Given the description of an element on the screen output the (x, y) to click on. 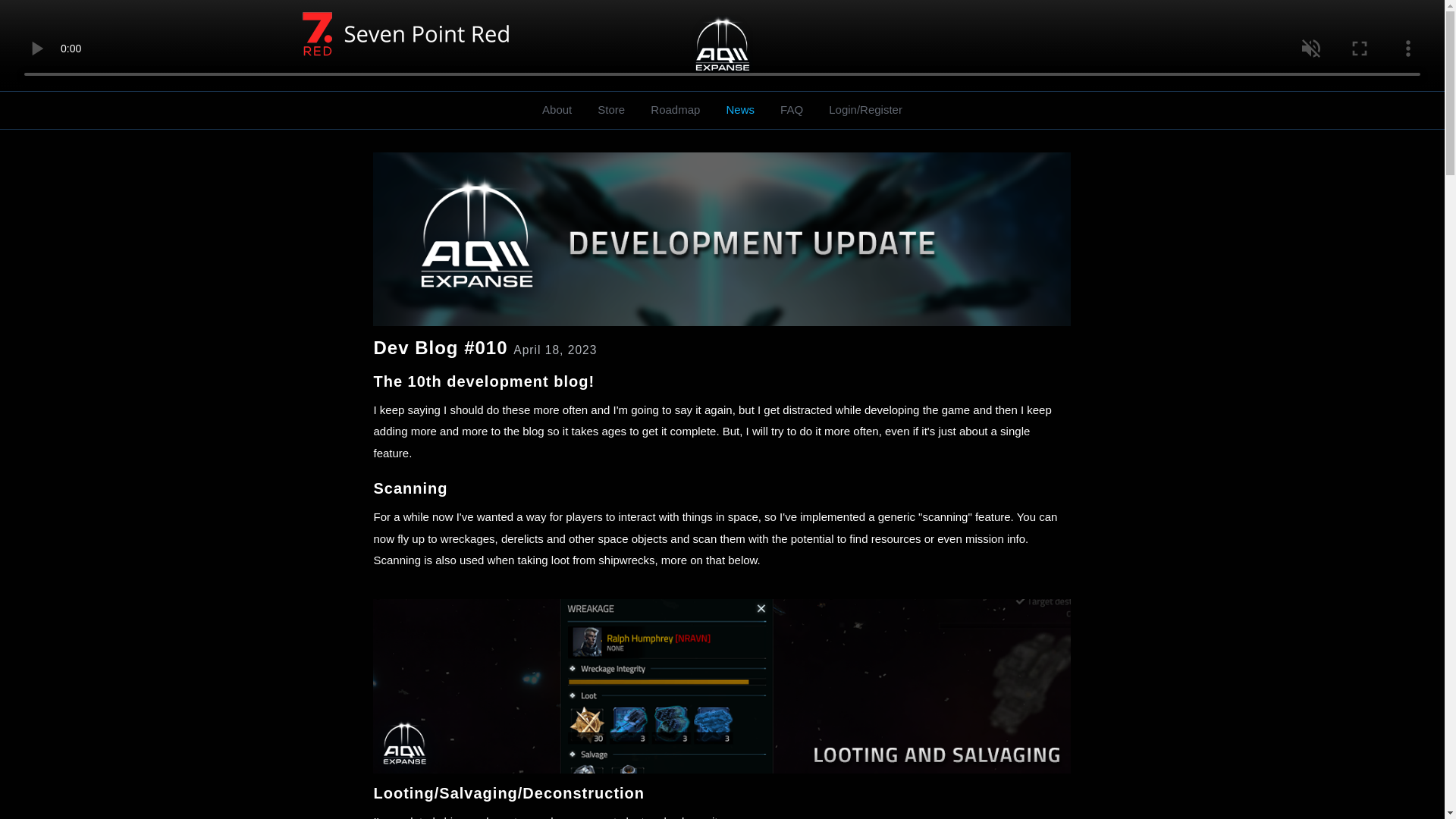
About (557, 109)
Roadmap (675, 109)
News (740, 109)
Store (611, 109)
FAQ (791, 109)
